Given the description of an element on the screen output the (x, y) to click on. 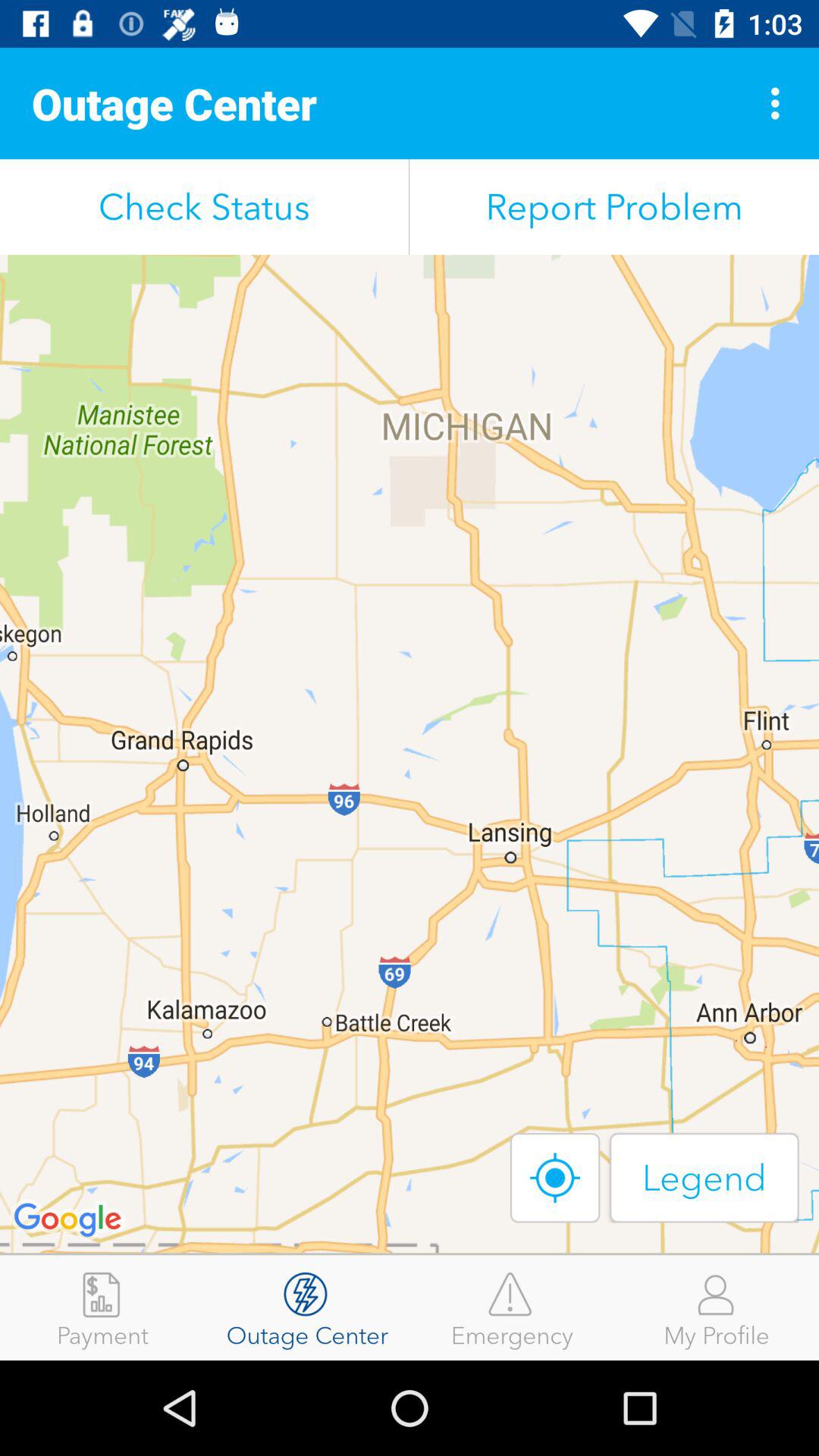
swipe to the check status (204, 206)
